Given the description of an element on the screen output the (x, y) to click on. 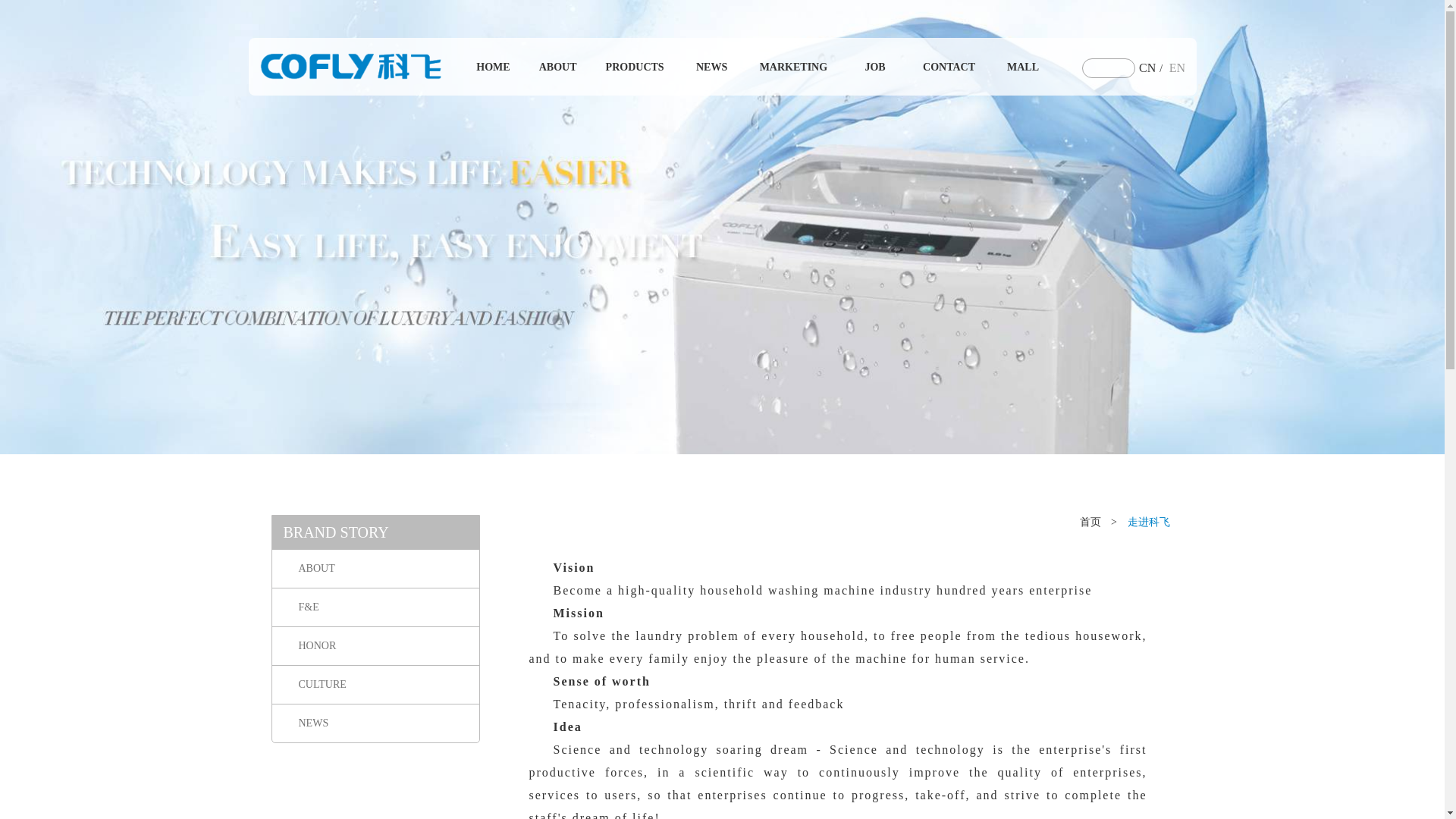
MARKETING (781, 72)
CONTACT (888, 70)
CN (1060, 68)
HONOR (374, 646)
NEWS (734, 73)
ABOUT (676, 74)
HOME (655, 74)
JOB (832, 71)
MALL (948, 70)
CULTURE (374, 684)
